Given the description of an element on the screen output the (x, y) to click on. 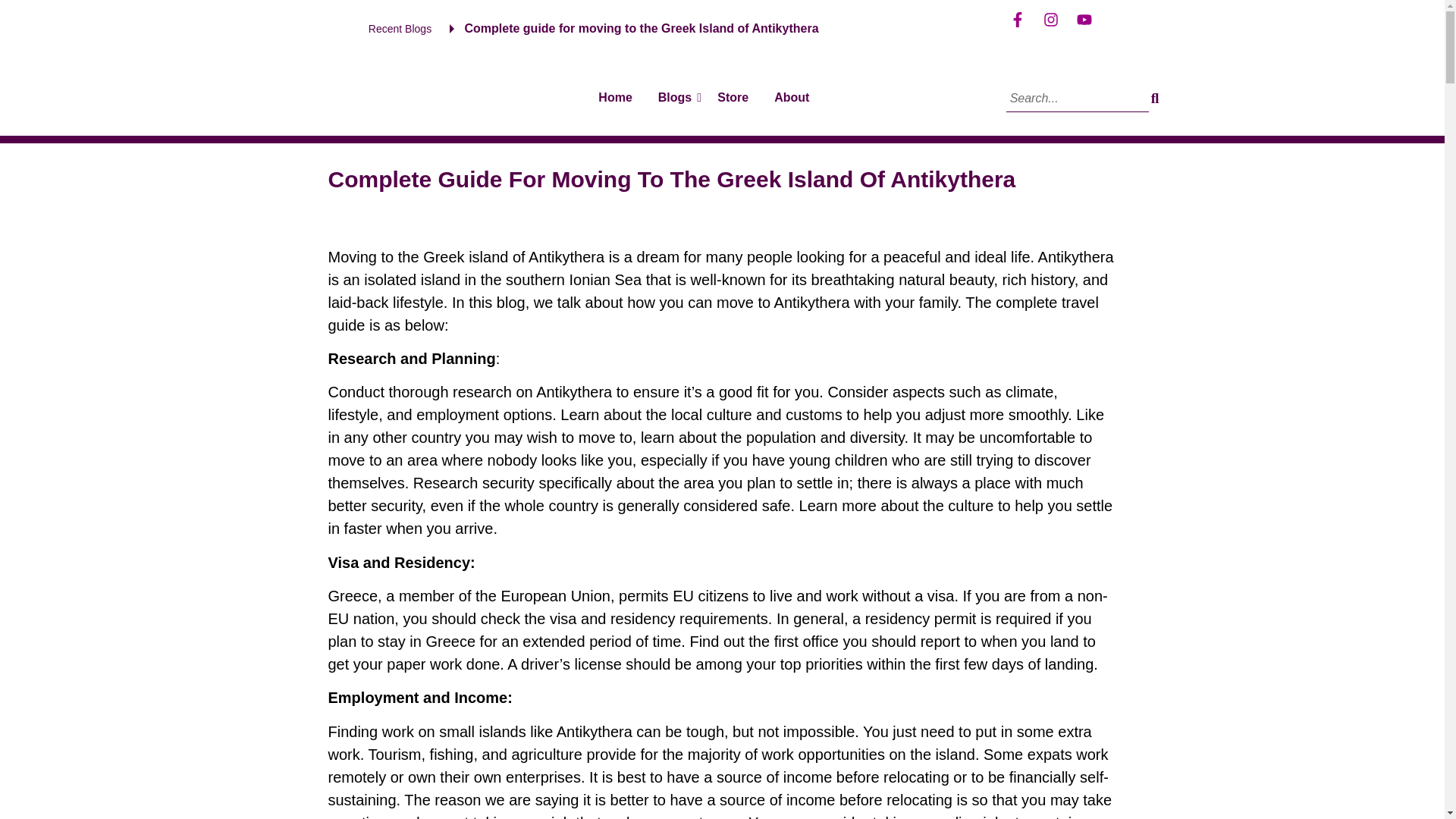
About (790, 98)
Complete guide for moving to the Greek Island of Antikythera (641, 28)
Blogs (674, 98)
Home (614, 98)
Store (732, 98)
Search (1077, 98)
